Given the description of an element on the screen output the (x, y) to click on. 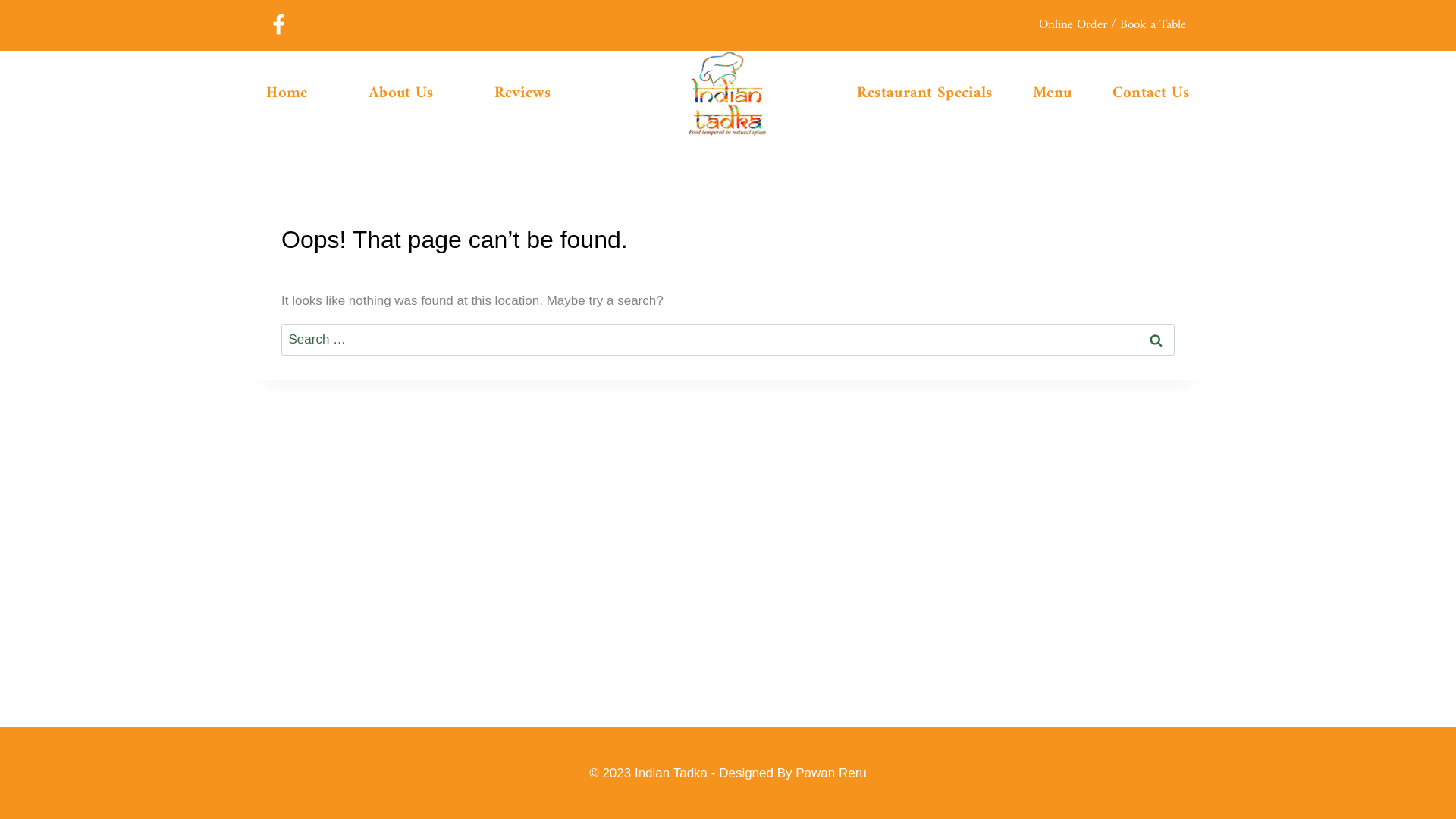
Search Element type: text (1155, 339)
Contact Us Element type: text (1150, 93)
Menu Element type: text (1052, 93)
About Us Element type: text (400, 93)
Home Element type: text (286, 93)
Online Order / Book a Table Element type: text (1112, 24)
Restaurant Specials Element type: text (924, 93)
Reviews Element type: text (522, 93)
